Given the description of an element on the screen output the (x, y) to click on. 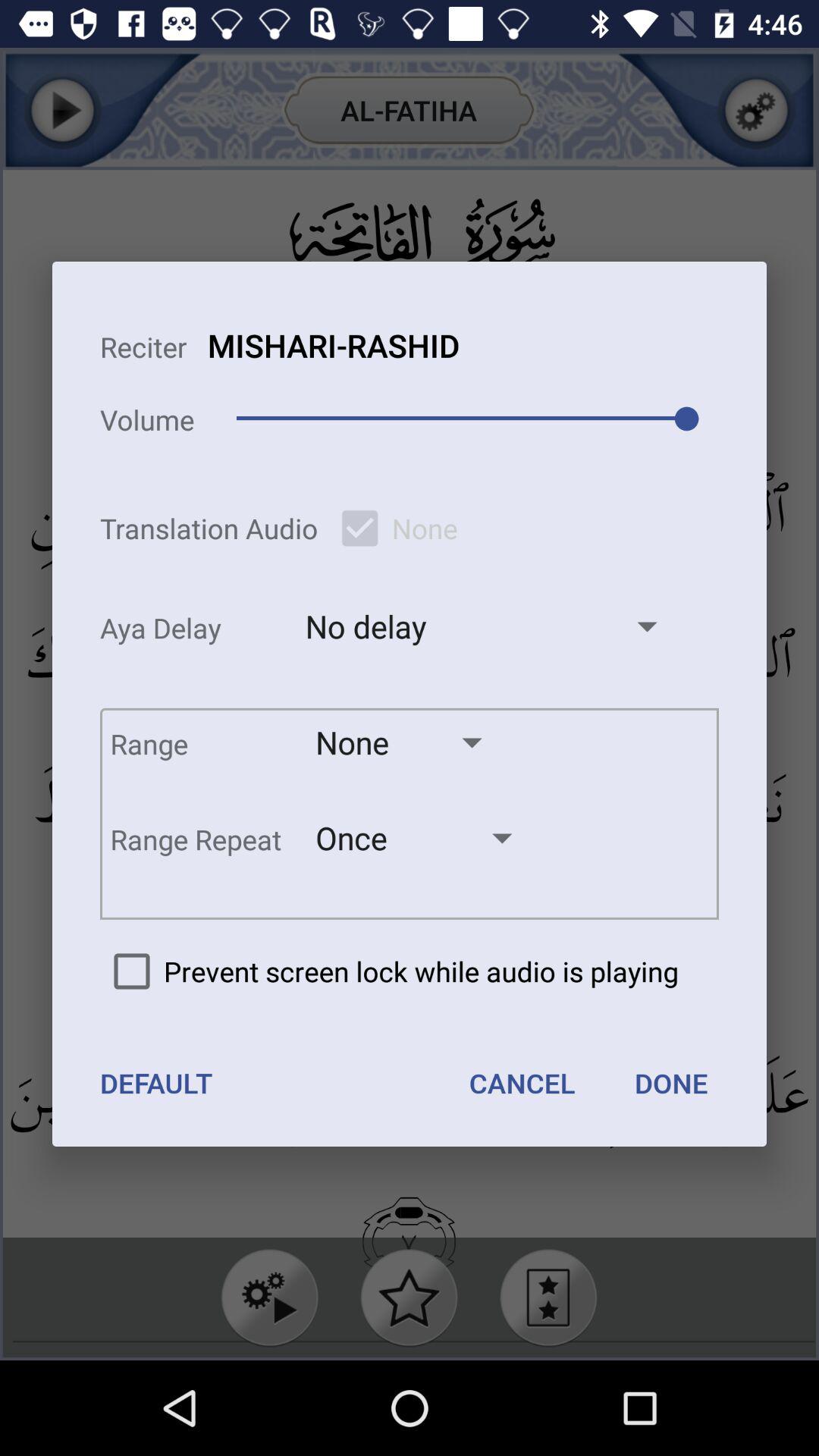
select item to the left of the cancel (156, 1082)
